Given the description of an element on the screen output the (x, y) to click on. 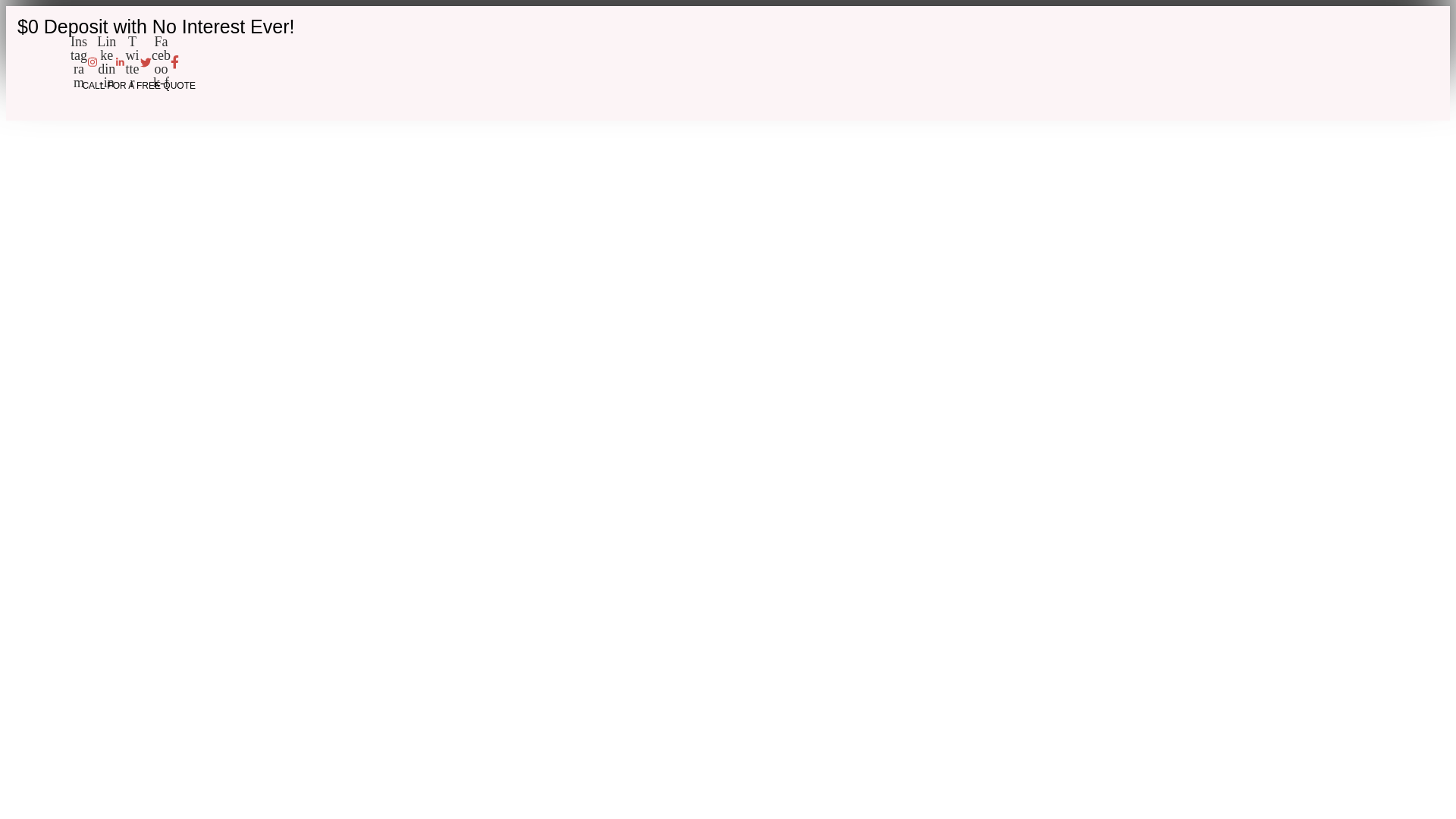
Twitter (137, 62)
Facebook-f (165, 62)
Instagram (83, 62)
Linkedin-in (110, 62)
